Given the description of an element on the screen output the (x, y) to click on. 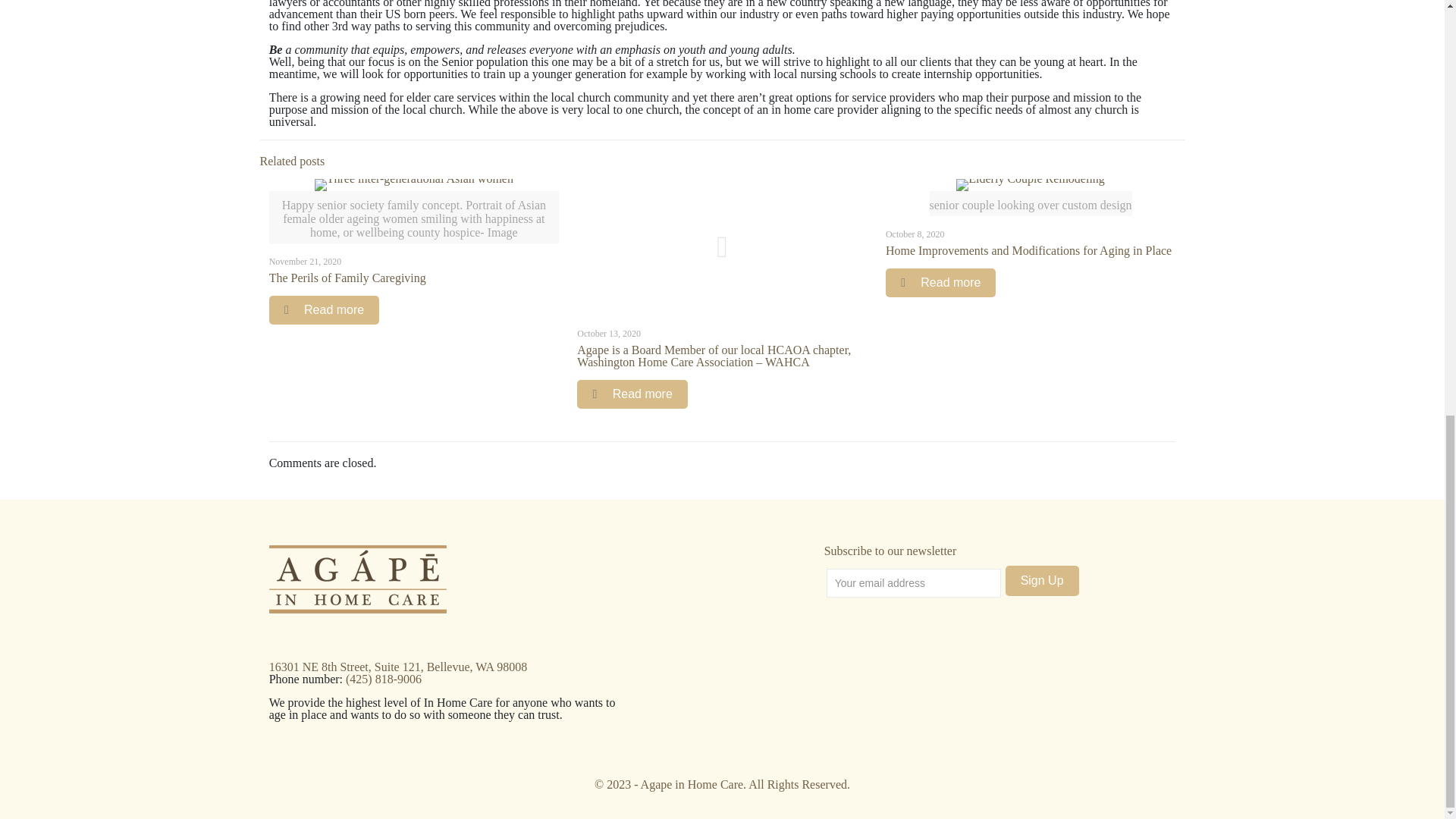
Sign Up (1042, 580)
Sign Up (1042, 580)
Home Improvements and Modifications for Aging in Place (1028, 250)
The Perils of Family Caregiving (347, 277)
Read more (631, 394)
Read more (940, 282)
16301 NE 8th Street, Suite 121, Bellevue, WA 98008 (398, 666)
Read more (324, 309)
